Given the description of an element on the screen output the (x, y) to click on. 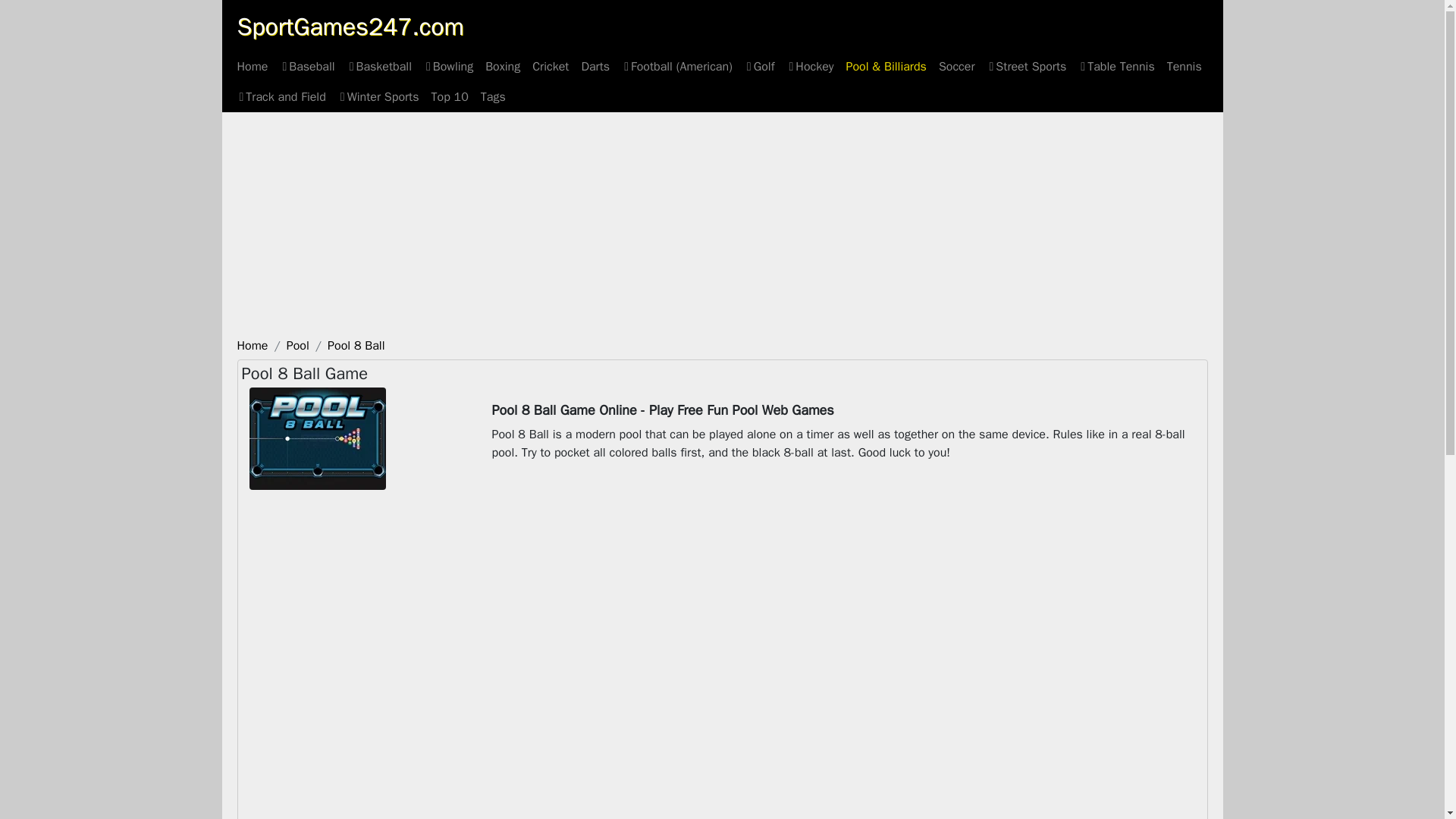
Winter Sports (378, 96)
Basketball (378, 66)
Table Tennis (1115, 66)
Home (251, 345)
Tags (493, 96)
SportGames247.com (349, 27)
Home (251, 66)
Soccer (957, 66)
Baseball (306, 66)
Pool (297, 345)
Street Sports (1027, 66)
Top 10 (449, 96)
Hockey (810, 66)
Golf (759, 66)
Darts (595, 66)
